Given the description of an element on the screen output the (x, y) to click on. 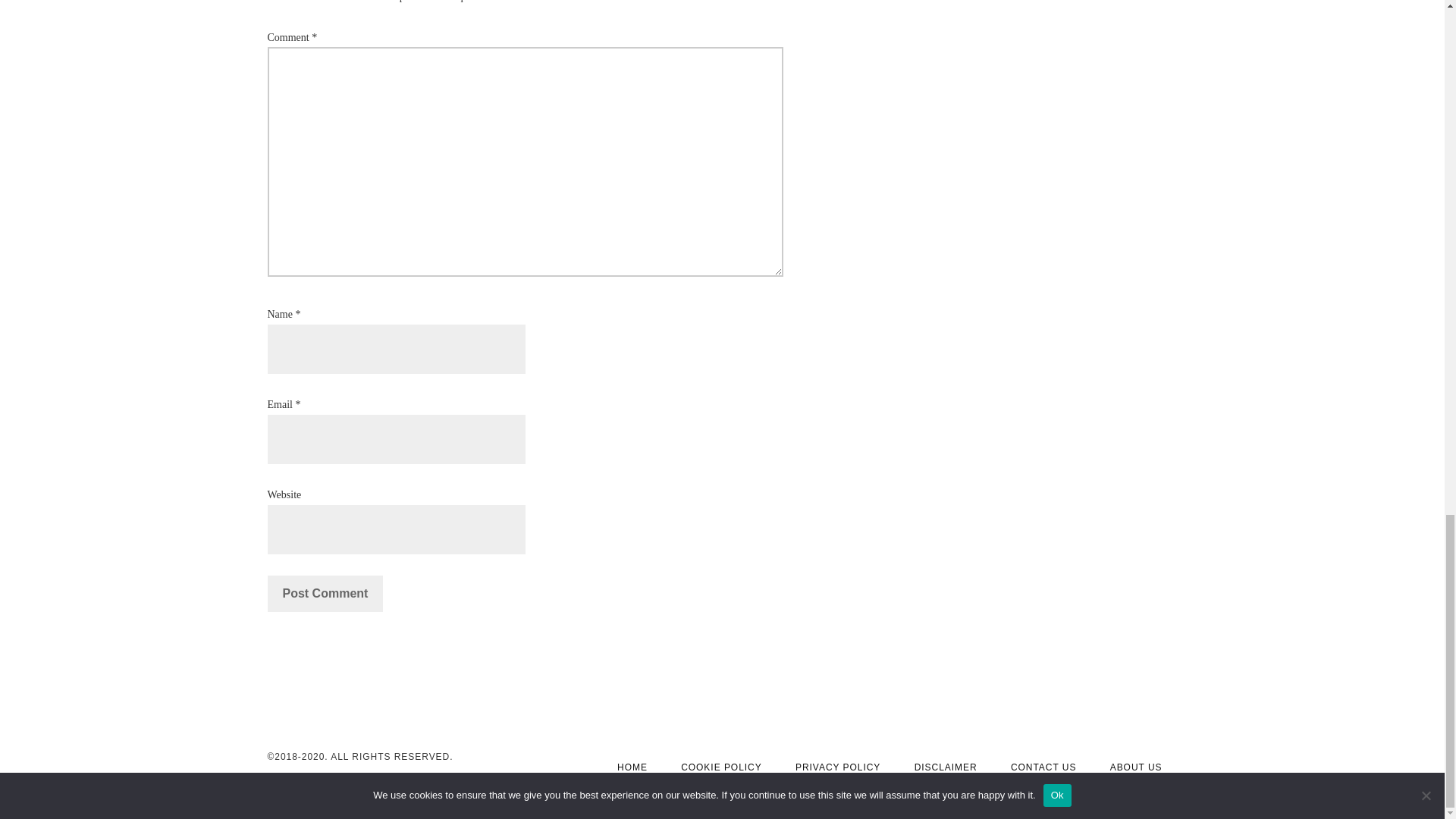
Post Comment (324, 593)
